Given the description of an element on the screen output the (x, y) to click on. 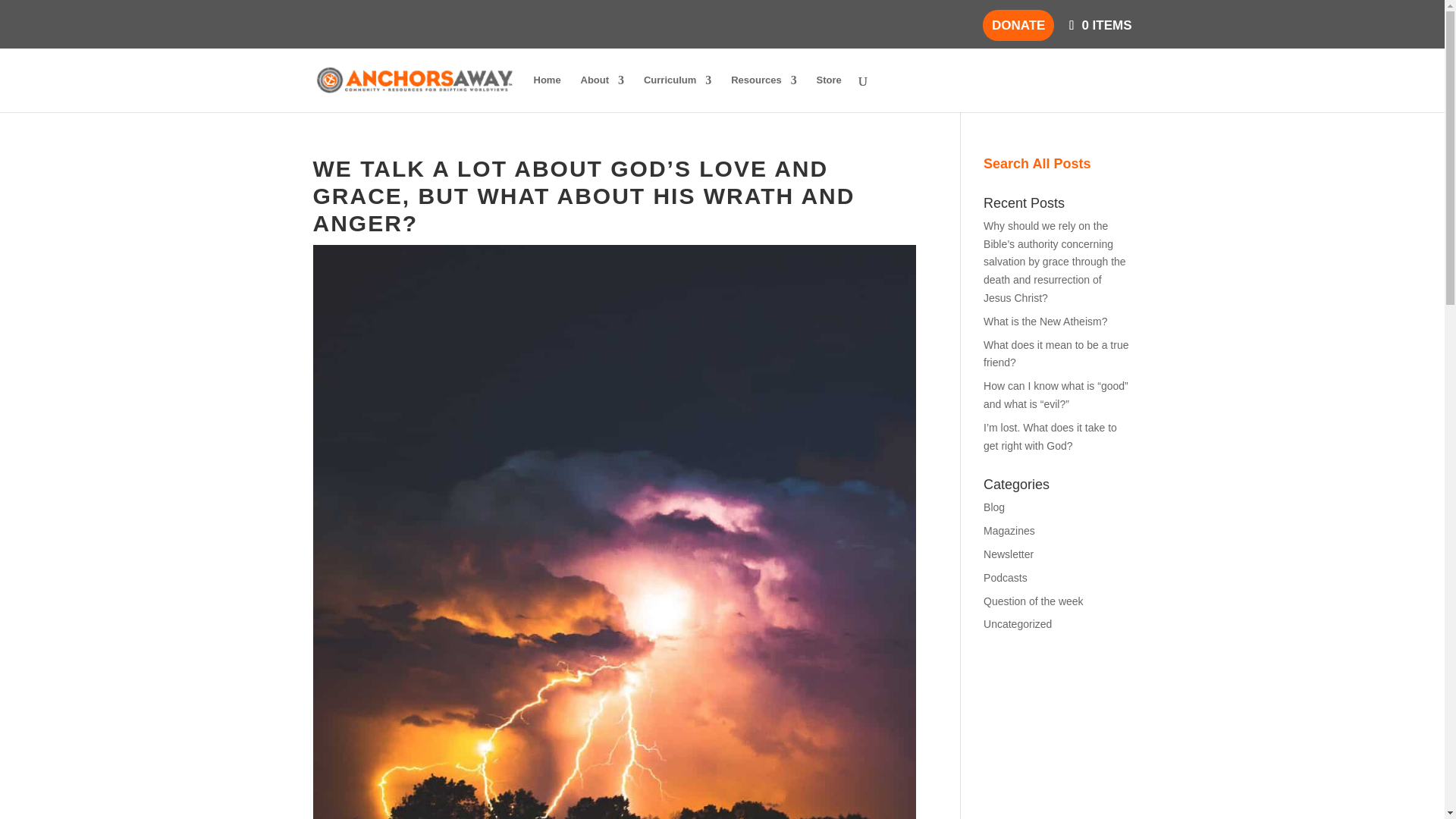
Resources (763, 93)
About (602, 93)
0 ITEMS (1098, 25)
Curriculum (677, 93)
DONATE (1018, 24)
